Given the description of an element on the screen output the (x, y) to click on. 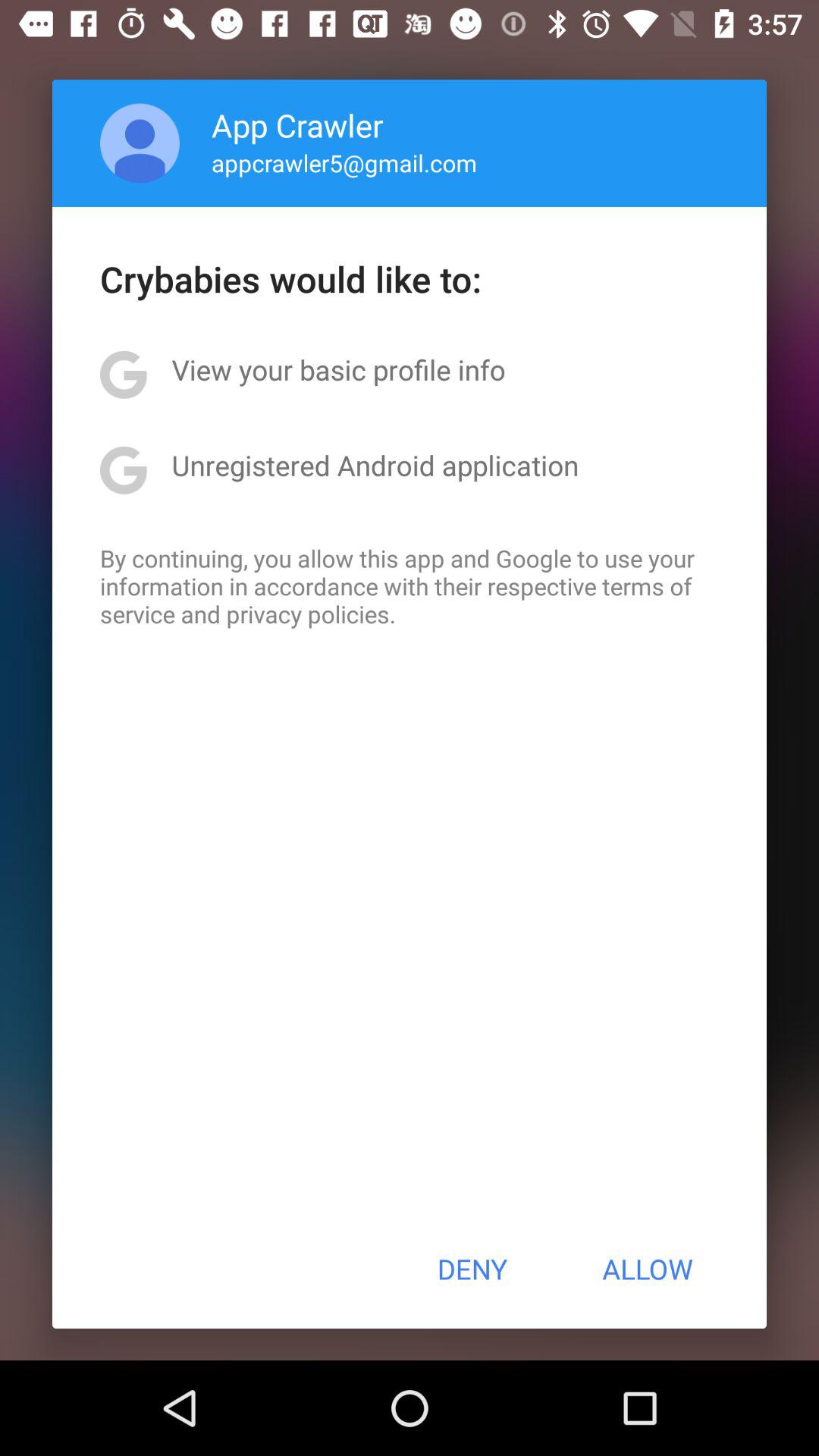
swipe to the app crawler icon (297, 124)
